Given the description of an element on the screen output the (x, y) to click on. 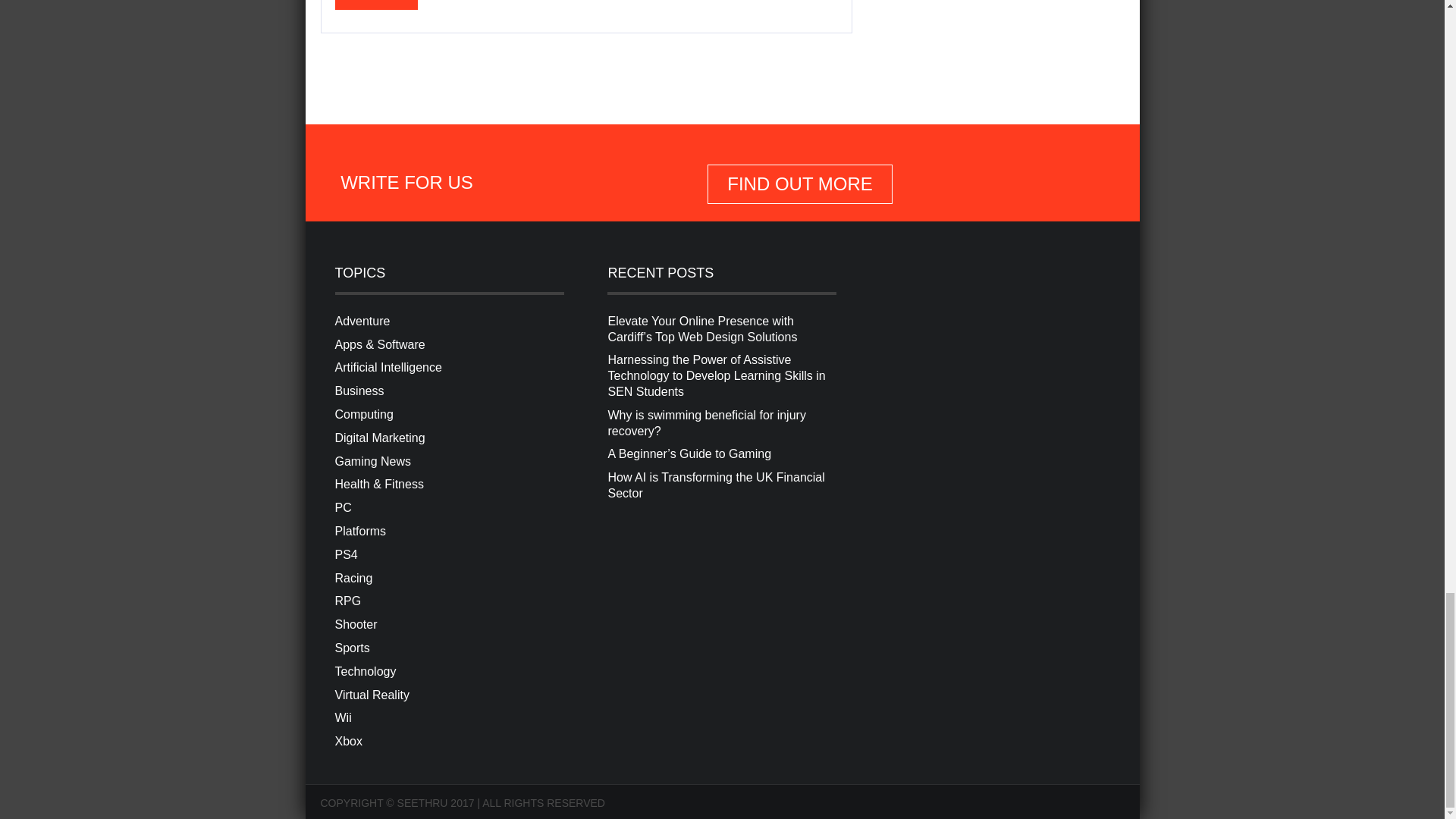
Post Comment (375, 4)
Post Comment (375, 4)
